Given the description of an element on the screen output the (x, y) to click on. 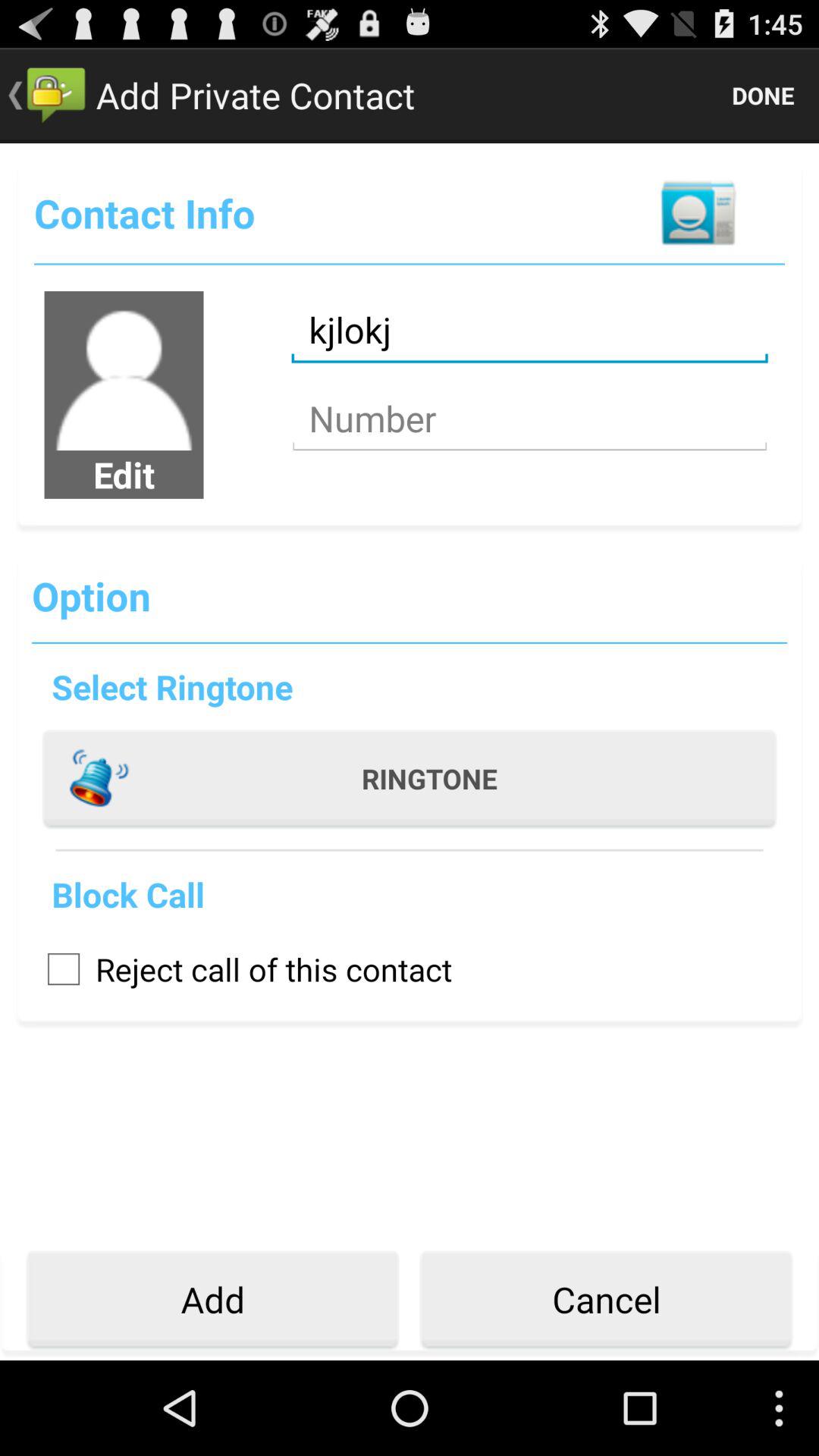
launch reject call of item (241, 969)
